Given the description of an element on the screen output the (x, y) to click on. 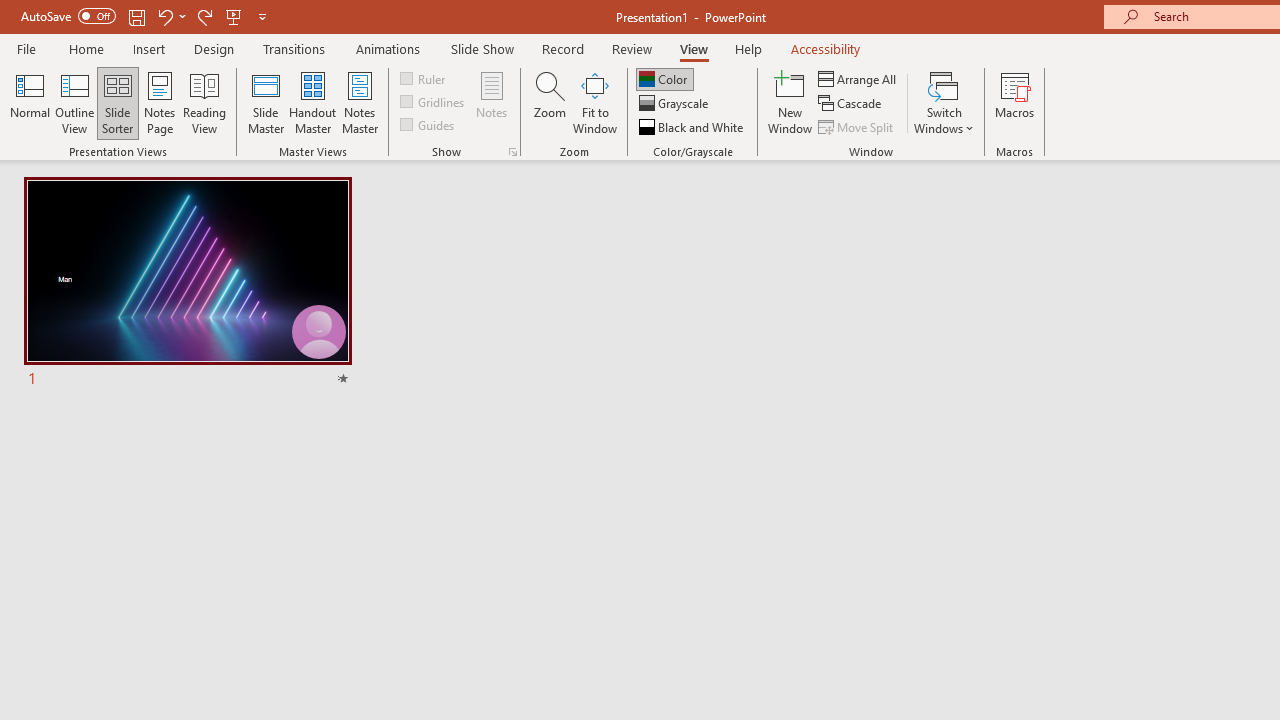
Grayscale (675, 103)
Ruler (423, 78)
Switch Windows (943, 102)
Guides (428, 124)
Cascade (851, 103)
Handout Master (312, 102)
